Given the description of an element on the screen output the (x, y) to click on. 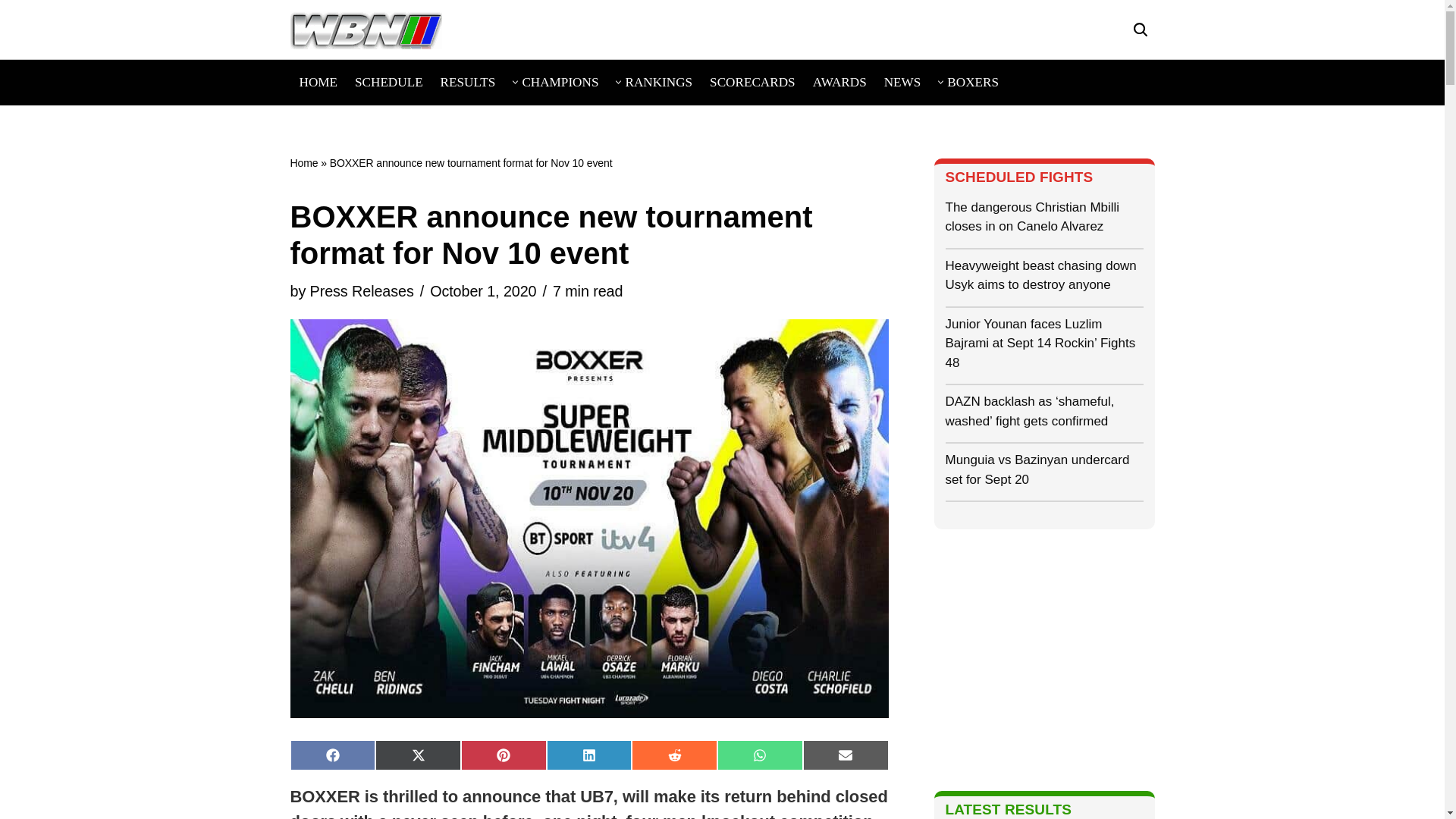
HOME (317, 81)
RESULTS (468, 81)
SCORECARDS (752, 81)
SCHEDULE (389, 81)
NEWS (902, 81)
CHAMPIONS (559, 81)
BOXERS (972, 81)
RANKINGS (658, 81)
Skip to content (11, 31)
Posts by Press Releases (361, 290)
